Given the description of an element on the screen output the (x, y) to click on. 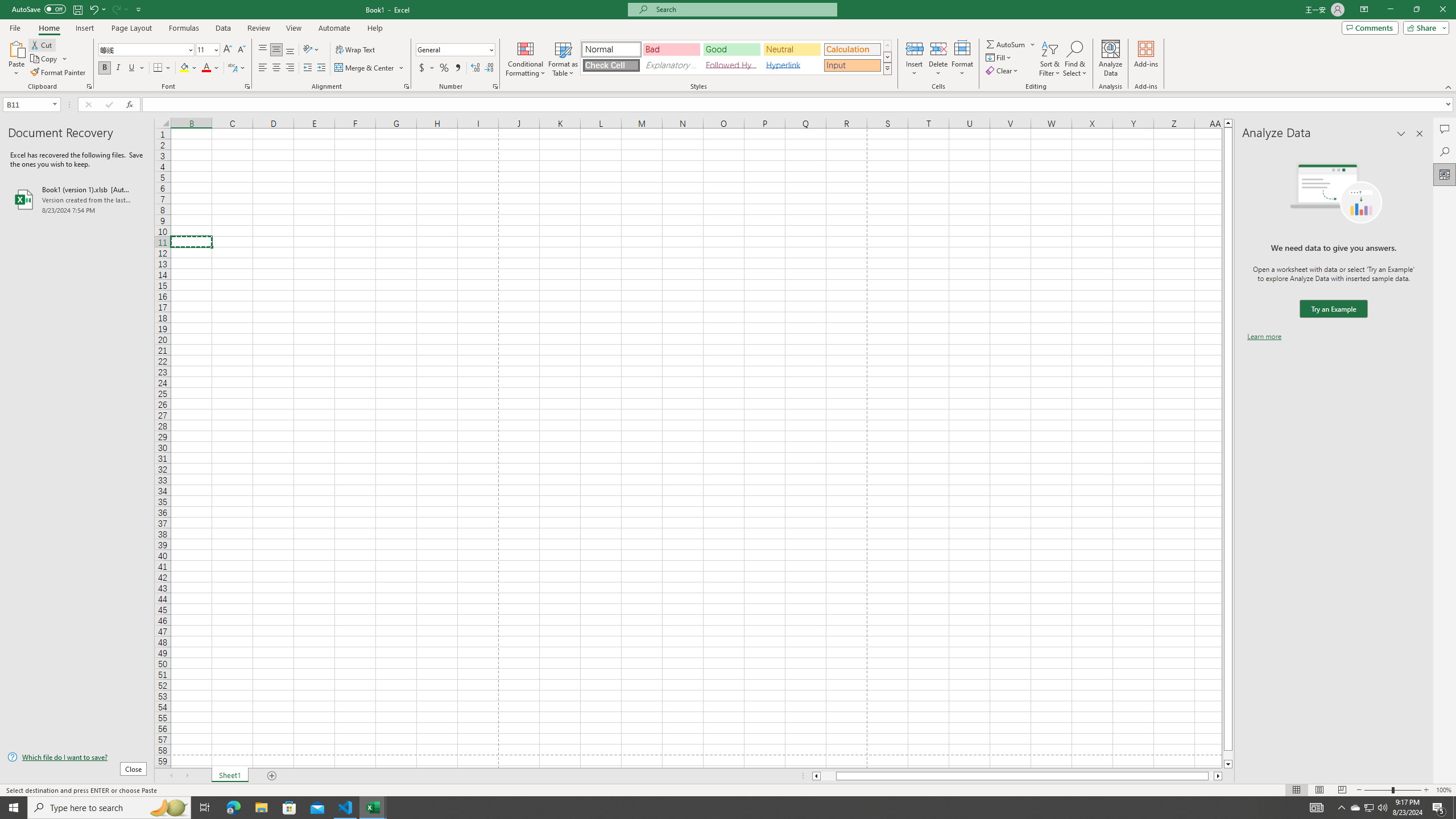
Sum (1006, 44)
Conditional Formatting (525, 58)
Orientation (311, 49)
